Given the description of an element on the screen output the (x, y) to click on. 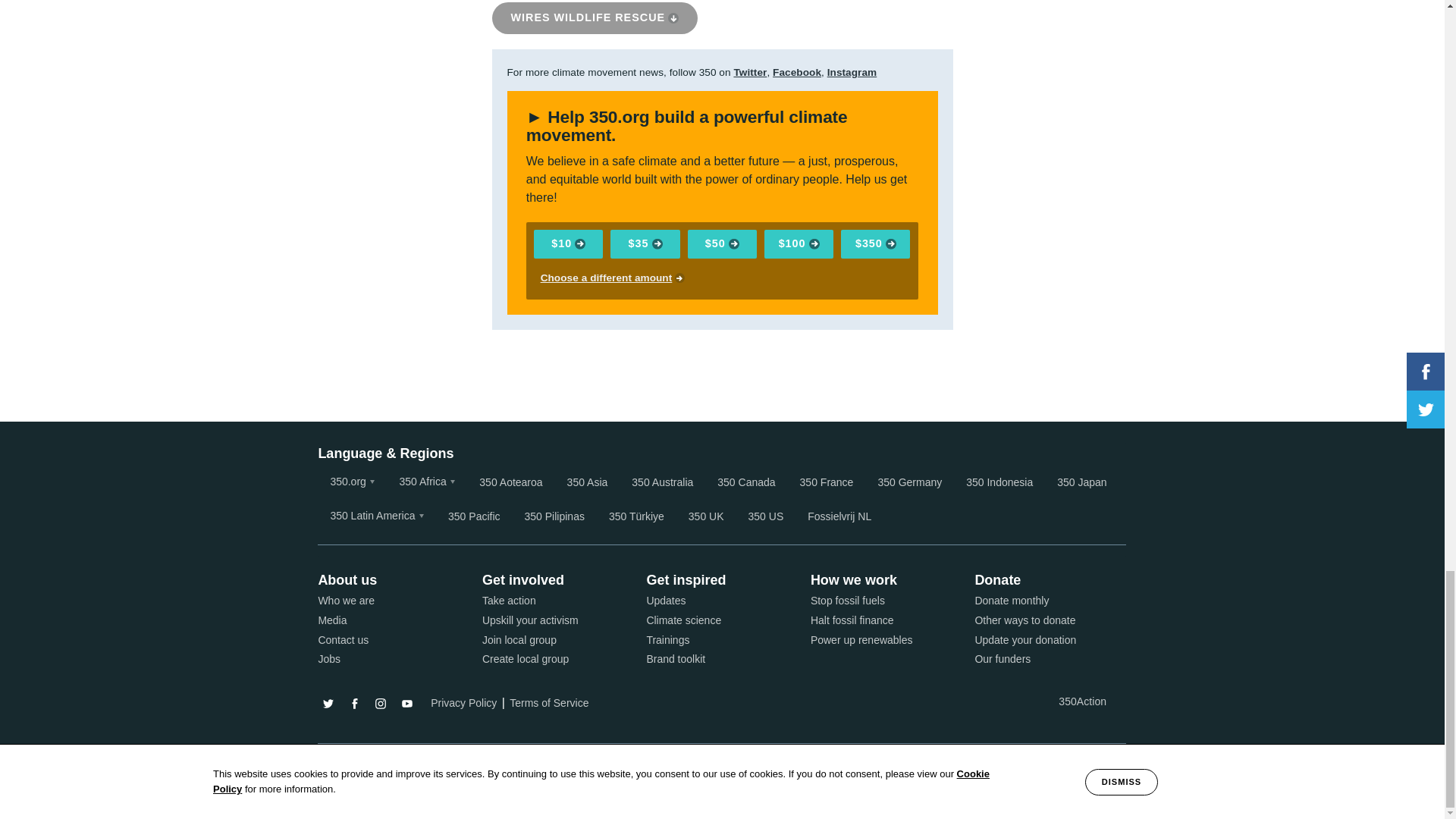
WIRES WILDLIFE RESCUE (594, 18)
Facebook (797, 71)
Instagram (852, 71)
Twitter (750, 71)
